Given the description of an element on the screen output the (x, y) to click on. 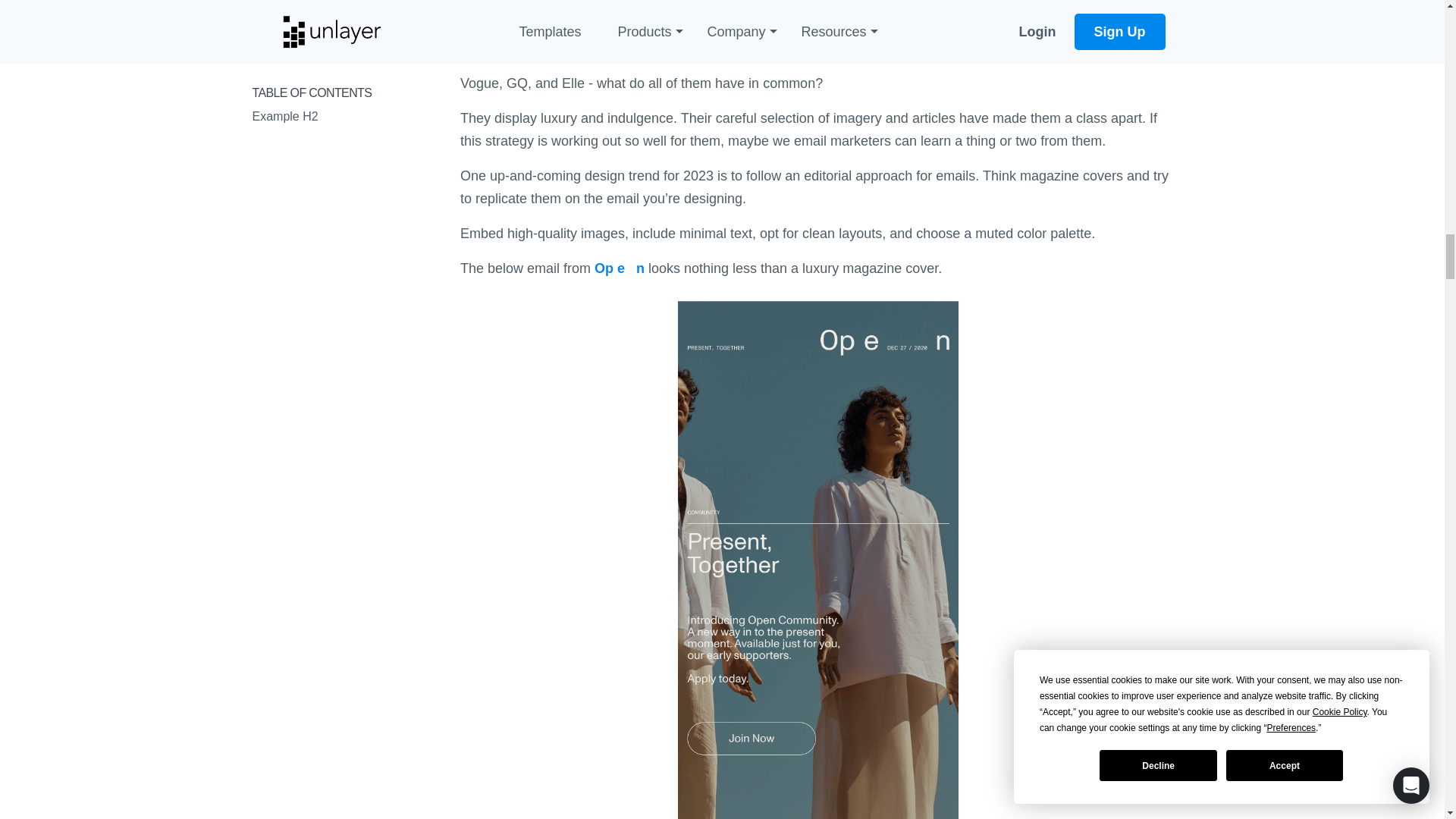
Op e   n (619, 268)
